Given the description of an element on the screen output the (x, y) to click on. 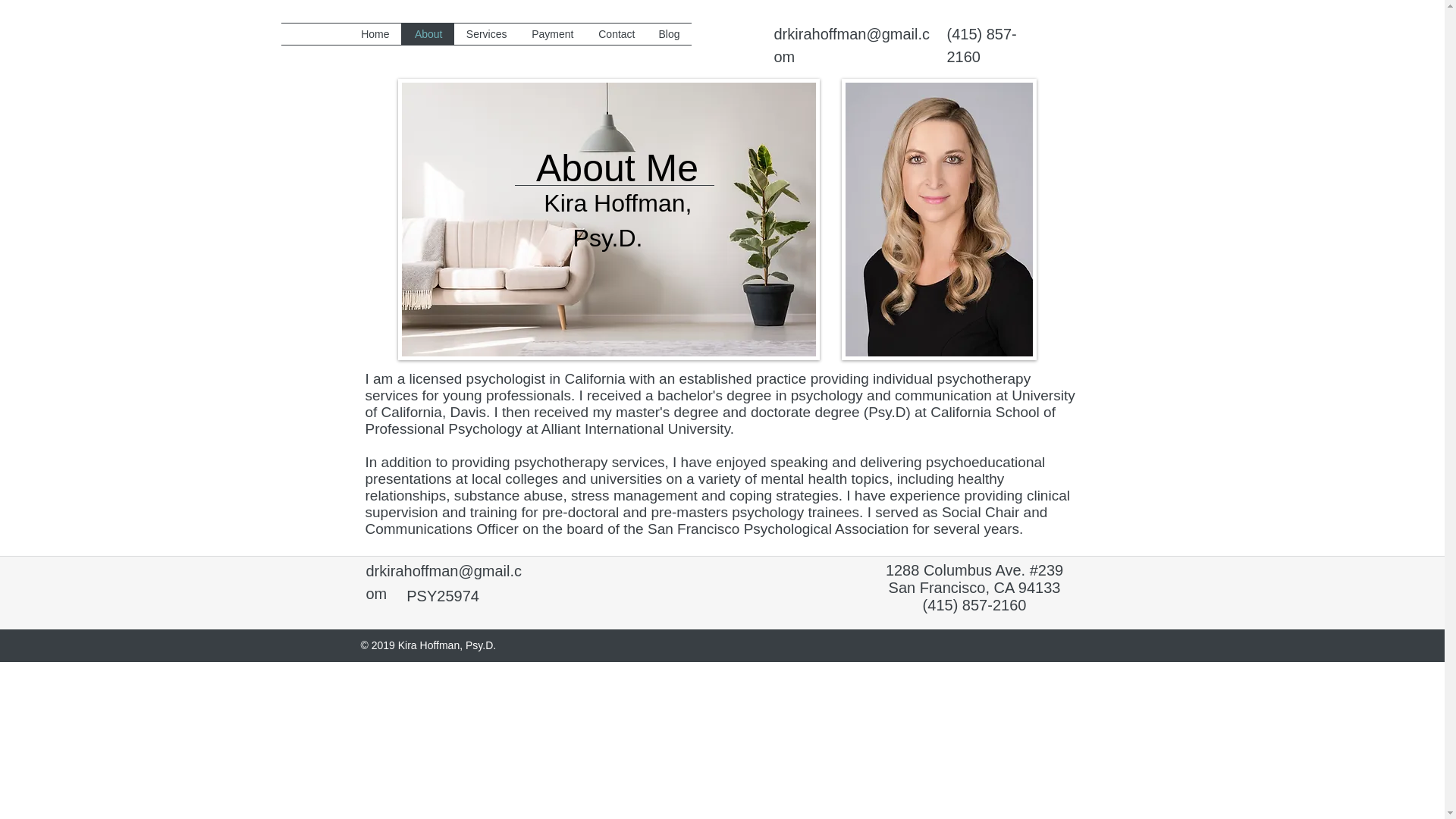
About (426, 34)
Home (375, 34)
Payment (551, 34)
Services (485, 34)
Blog (668, 34)
Contact (615, 34)
